Given the description of an element on the screen output the (x, y) to click on. 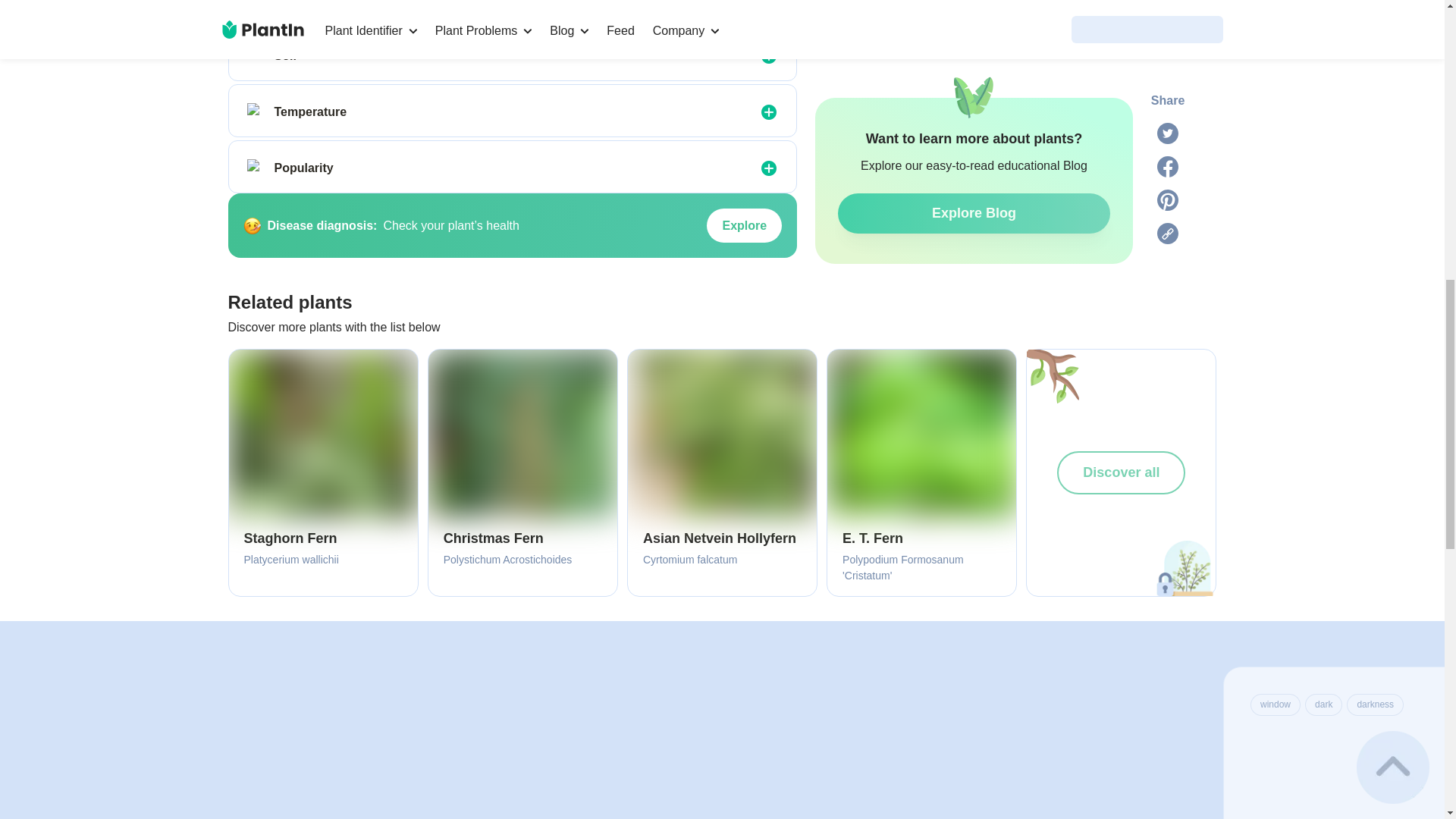
Popularity (255, 167)
Soil (255, 55)
Fertilizer (255, 4)
Explore (743, 225)
Temperature (255, 112)
